Given the description of an element on the screen output the (x, y) to click on. 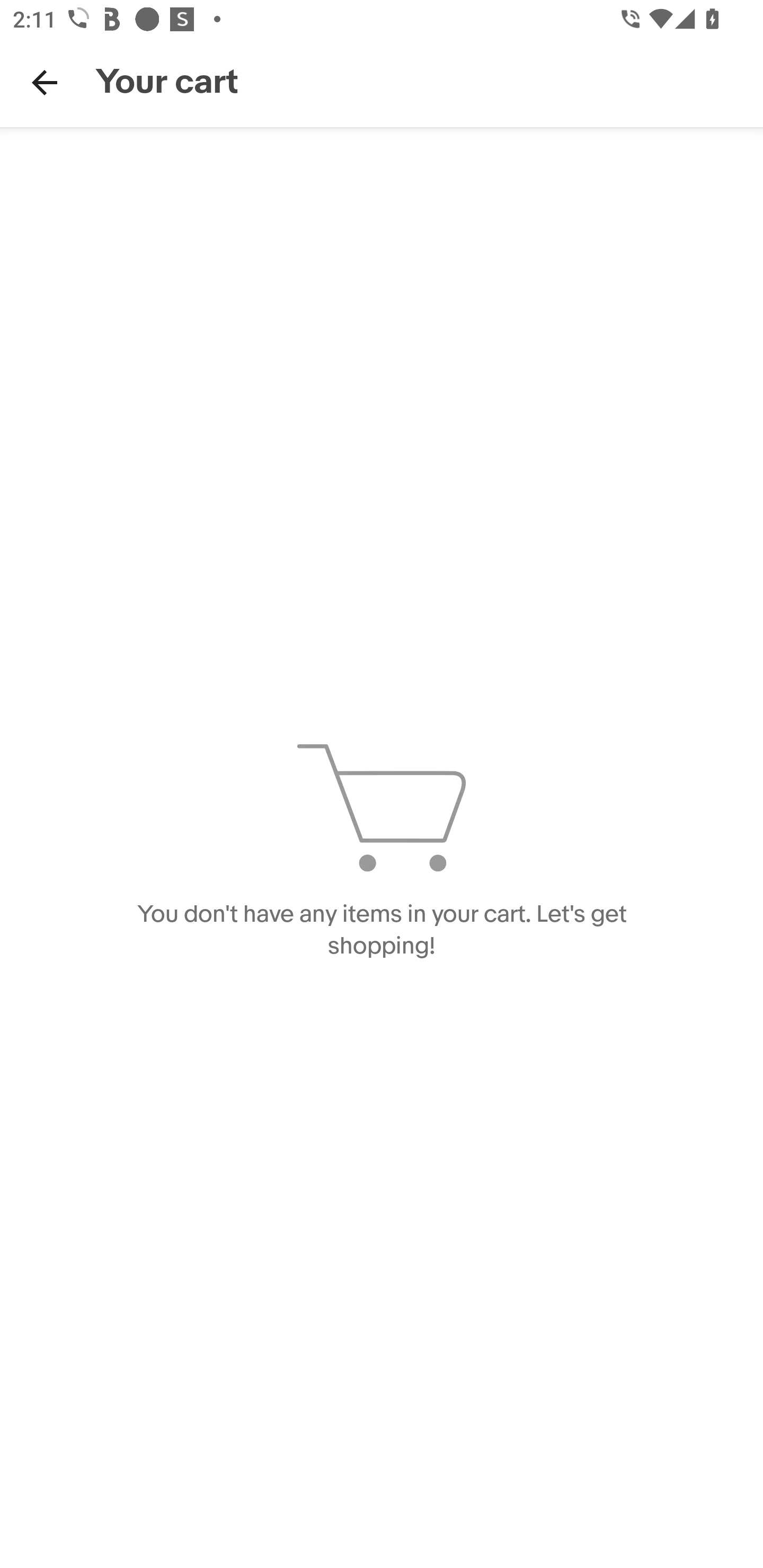
Navigate up (44, 82)
